Given the description of an element on the screen output the (x, y) to click on. 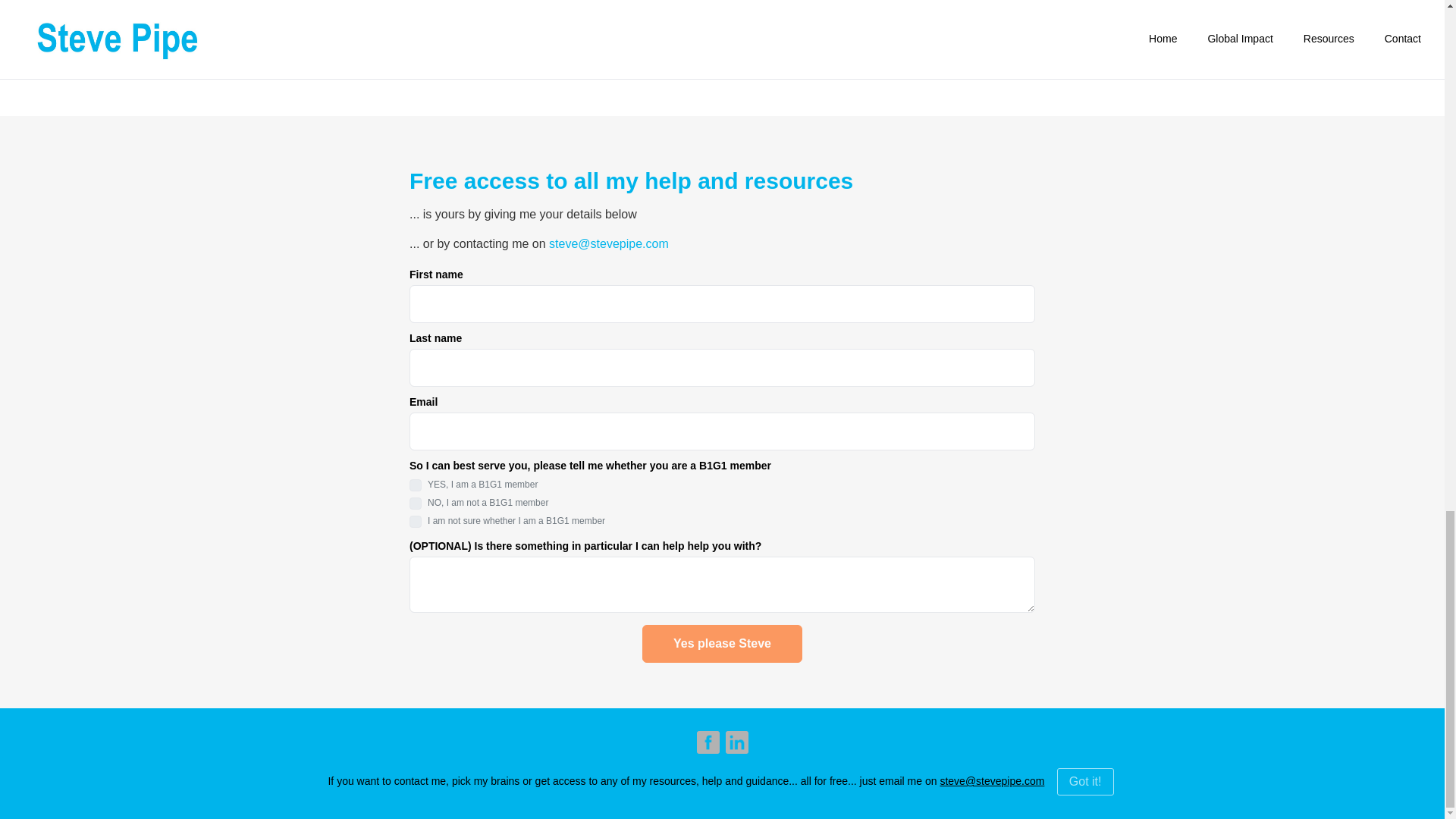
Terms of Use (764, 784)
Yes please Steve (722, 643)
Privacy Policy (680, 784)
